Given the description of an element on the screen output the (x, y) to click on. 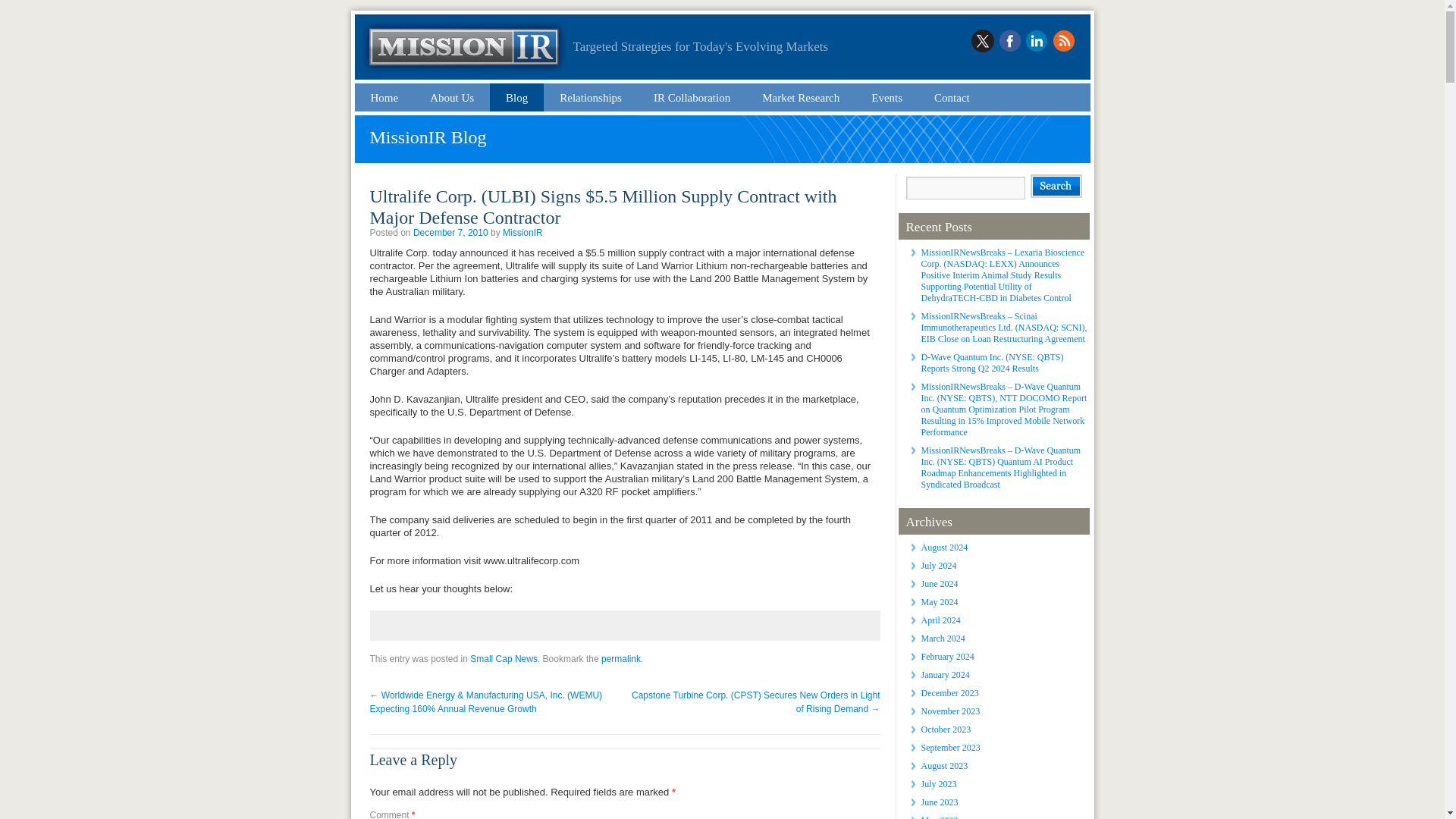
Relationships (590, 97)
Market Research (800, 97)
permalink (620, 658)
Contact (952, 97)
December 2023 (949, 692)
MissionIR (522, 232)
September 2023 (949, 747)
December 7, 2010 (450, 232)
June 2024 (939, 583)
View all posts by MissionIR (522, 232)
